Given the description of an element on the screen output the (x, y) to click on. 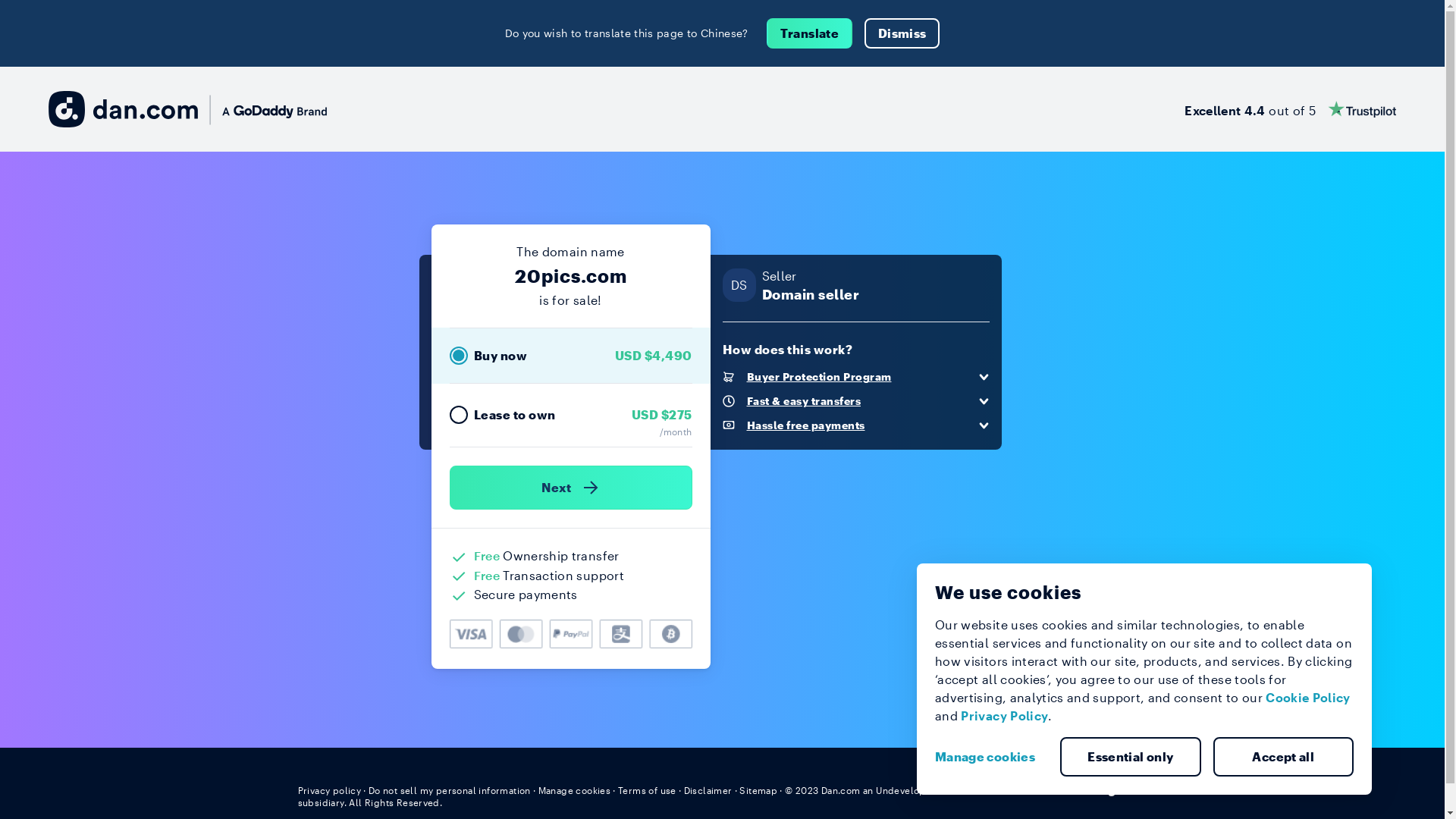
Accept all Element type: text (1283, 756)
Translate Element type: text (809, 33)
Excellent 4.4 out of 5 Element type: text (1290, 109)
Essential only Element type: text (1130, 756)
Privacy policy Element type: text (328, 789)
Manage cookies Element type: text (991, 756)
Next
) Element type: text (569, 487)
Do not sell my personal information Element type: text (449, 789)
Terms of use Element type: text (647, 789)
Manage cookies Element type: text (574, 790)
Privacy Policy Element type: text (1004, 715)
English Element type: text (1119, 789)
Sitemap Element type: text (758, 789)
Dismiss Element type: text (901, 33)
Disclaimer Element type: text (708, 789)
Cookie Policy Element type: text (1307, 697)
